Given the description of an element on the screen output the (x, y) to click on. 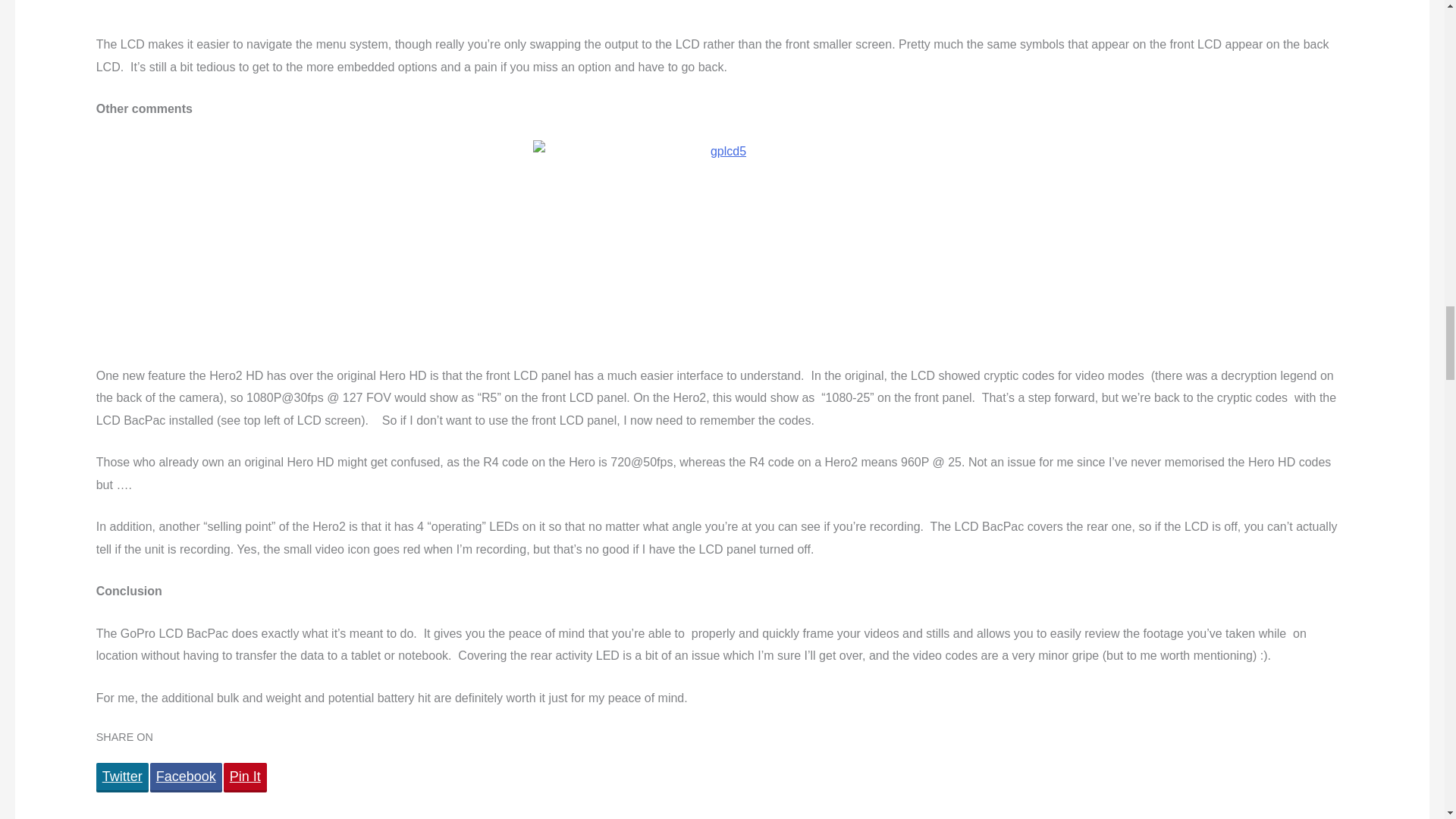
gplcd5 (721, 252)
gplcd4 (721, 16)
